Given the description of an element on the screen output the (x, y) to click on. 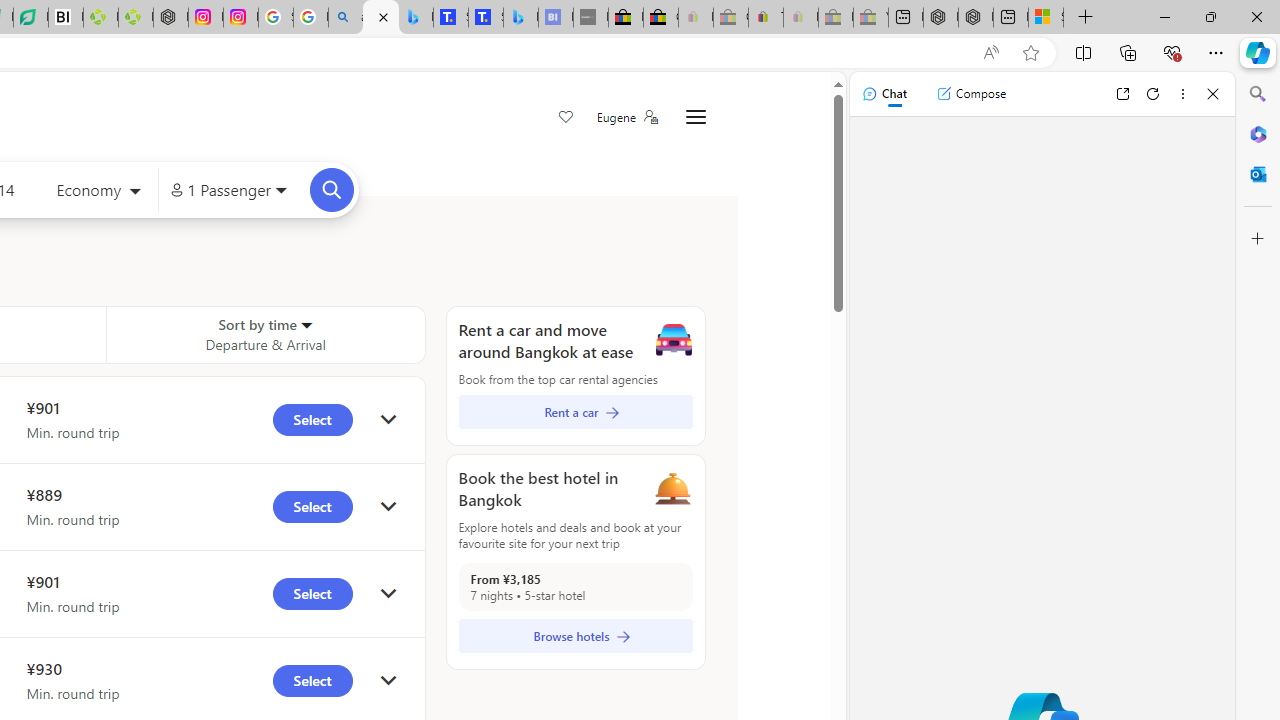
Compose (971, 93)
Microsoft Bing Travel - Flights from Hong Kong to Bangkok (380, 17)
1 Passenger (228, 189)
alabama high school quarterback dies - Search (346, 17)
Safety in Our Products - Google Safety Center (275, 17)
Nordace - Summer Adventures 2024 (975, 17)
Sorter (306, 324)
